Given the description of an element on the screen output the (x, y) to click on. 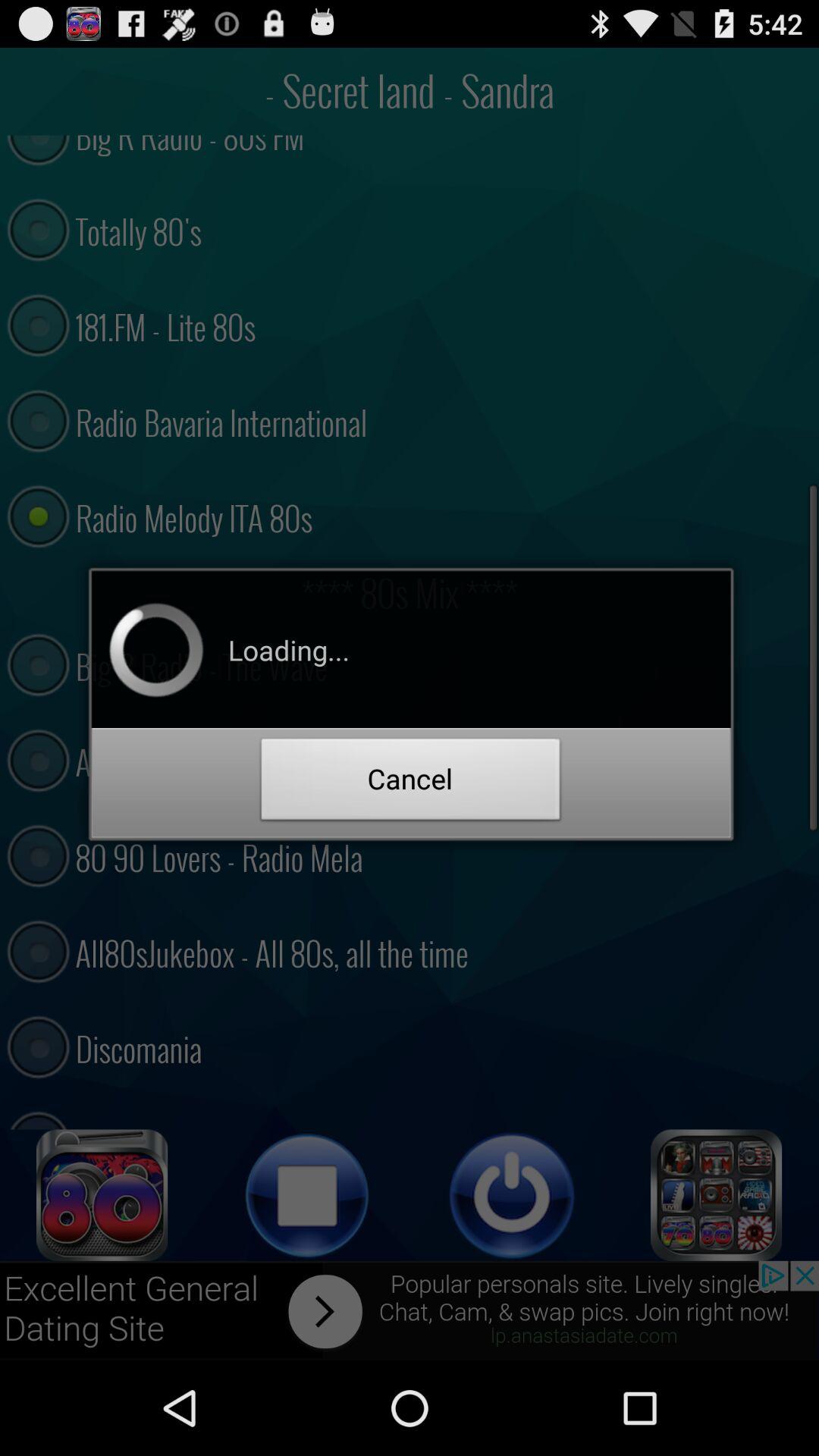
main menu (716, 1194)
